Given the description of an element on the screen output the (x, y) to click on. 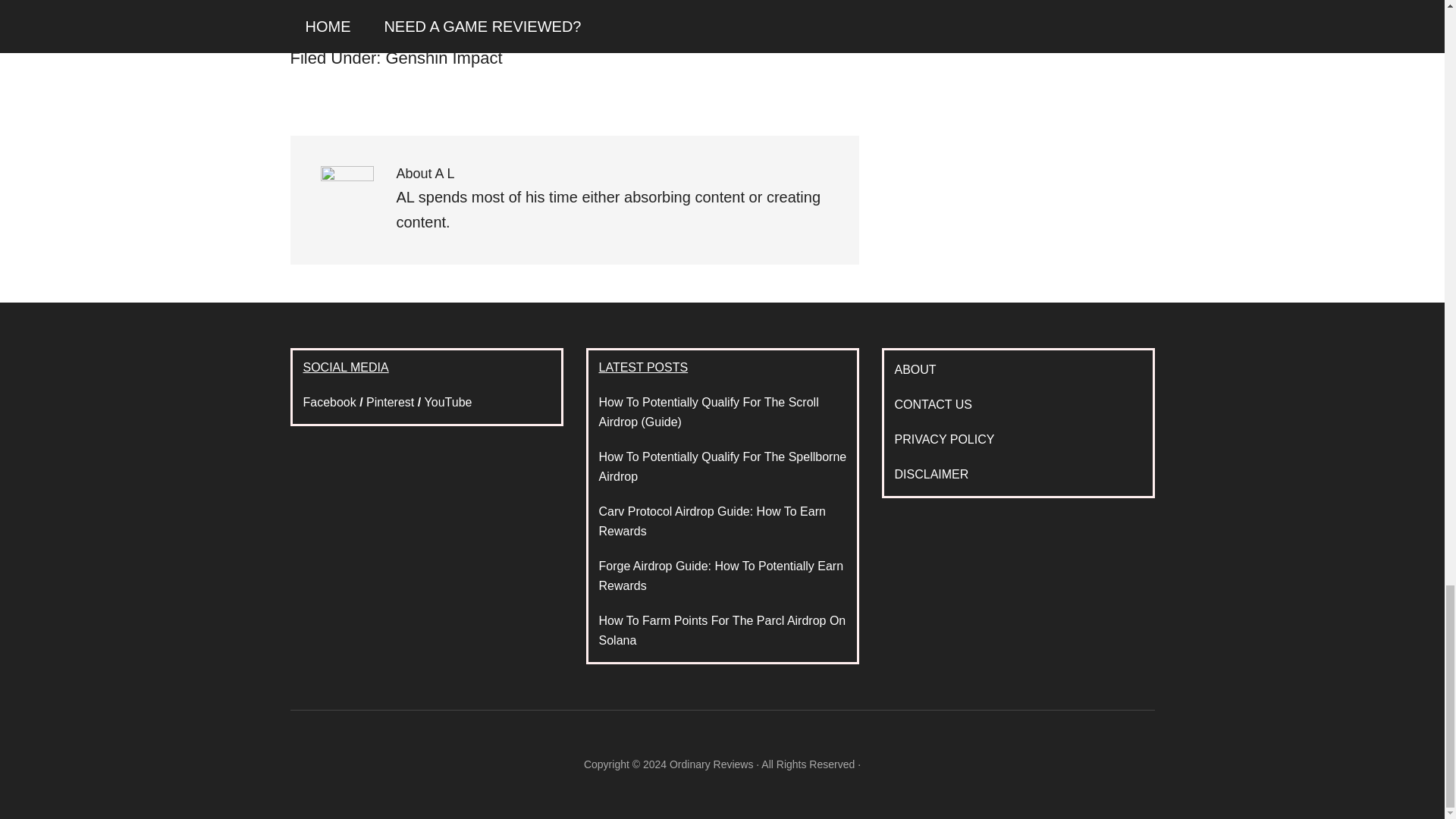
Forge Airdrop Guide: How To Potentially Earn Rewards (721, 575)
Carv Protocol Airdrop Guide: How To Earn Rewards (711, 521)
Pinterest (389, 401)
How To Farm Points For The Parcl Airdrop On Solana (721, 630)
Facebook (329, 401)
Genshin Impact (443, 57)
DISCLAIMER (932, 473)
ABOUT (915, 369)
YouTube (448, 401)
How To Potentially Qualify For The Spellborne Airdrop (722, 466)
